Given the description of an element on the screen output the (x, y) to click on. 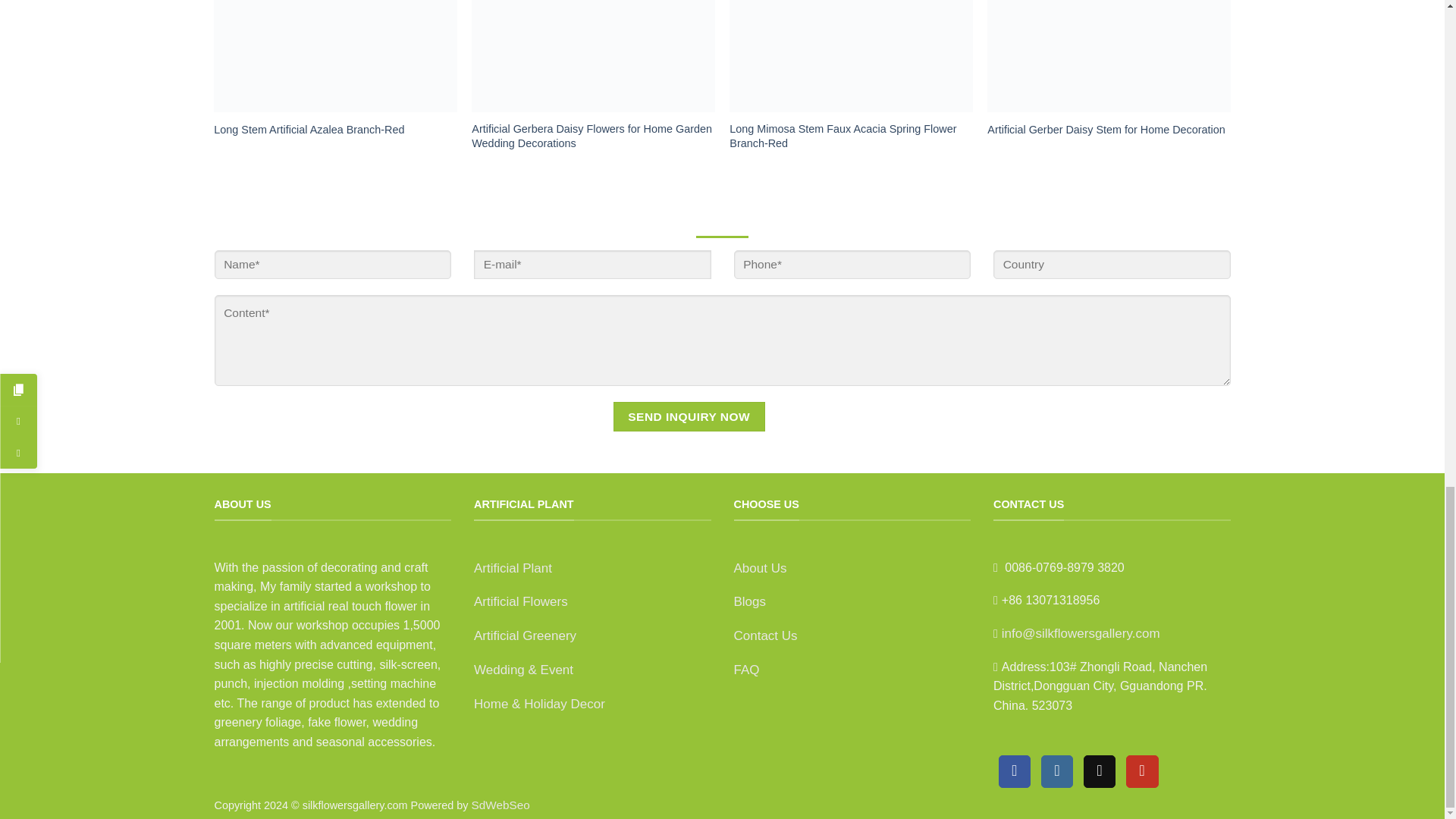
Send Inquiry Now (688, 416)
Follow on Facebook (1014, 771)
Follow on Instagram (1057, 771)
